Given the description of an element on the screen output the (x, y) to click on. 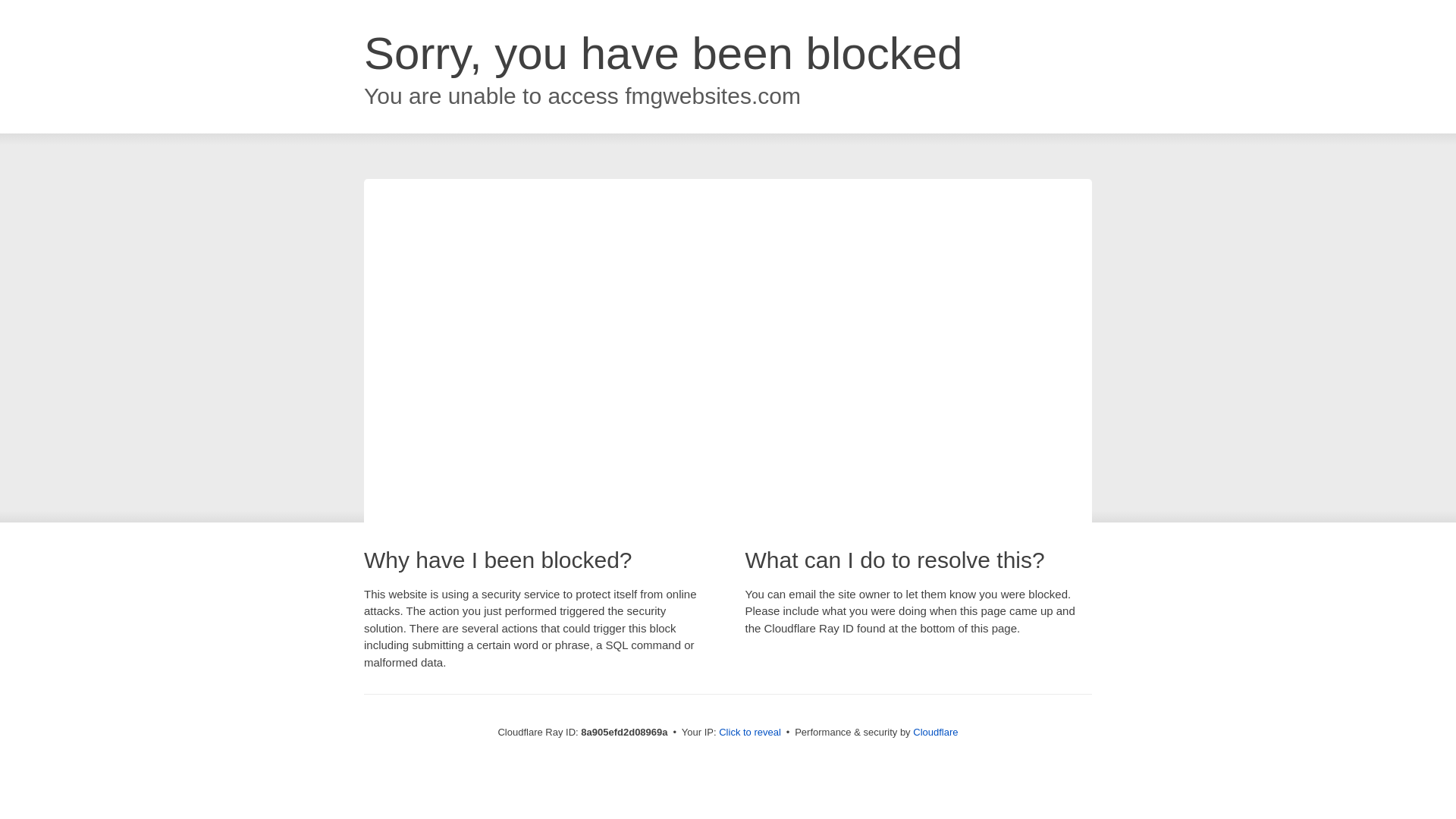
Click to reveal (749, 732)
Cloudflare (935, 731)
